Given the description of an element on the screen output the (x, y) to click on. 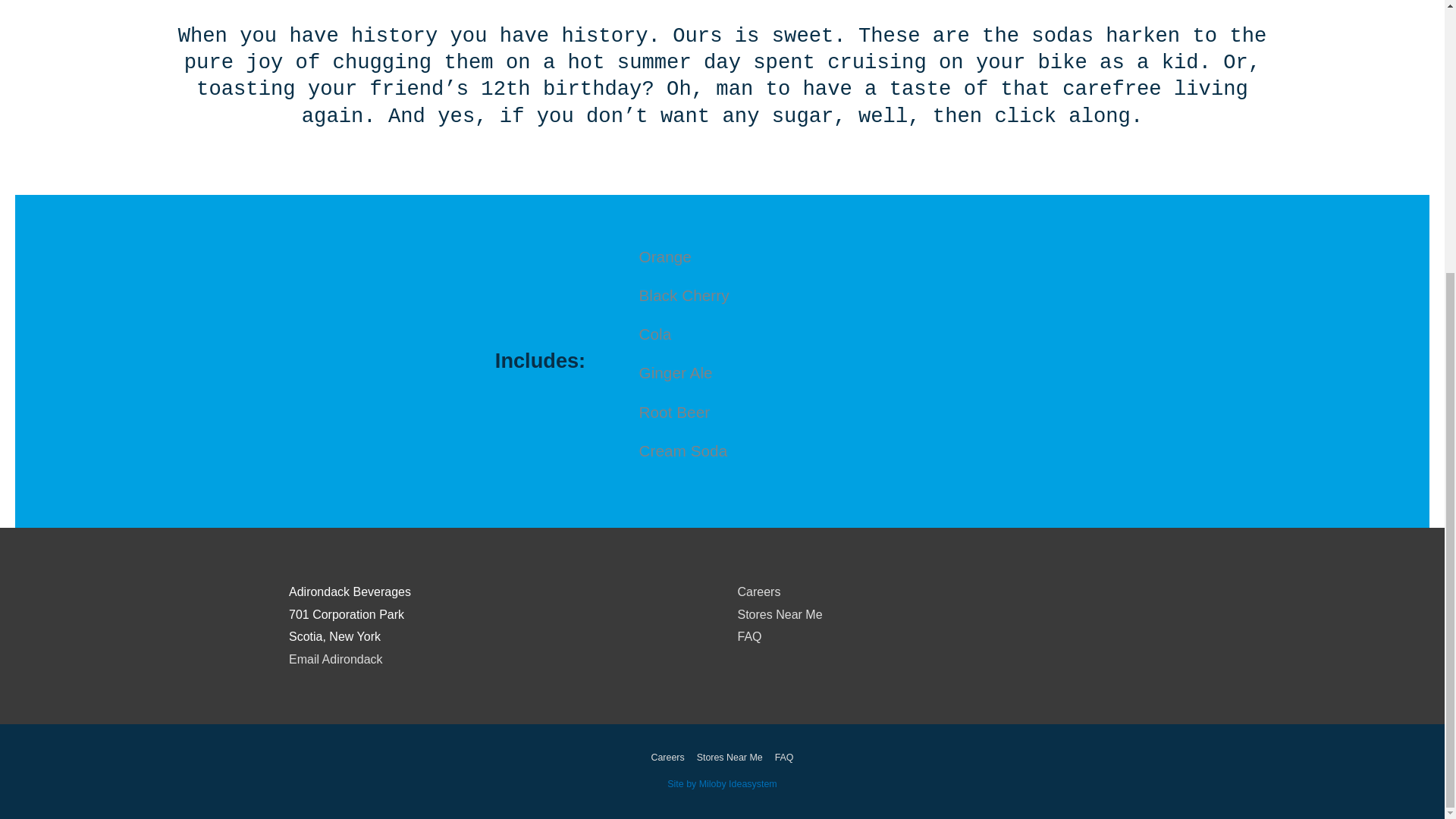
FAQ (748, 635)
Stores Near Me (729, 757)
Careers (669, 757)
Stores Near Me (779, 614)
FAQ (781, 757)
Careers (758, 591)
Email Adirondack (335, 658)
